Given the description of an element on the screen output the (x, y) to click on. 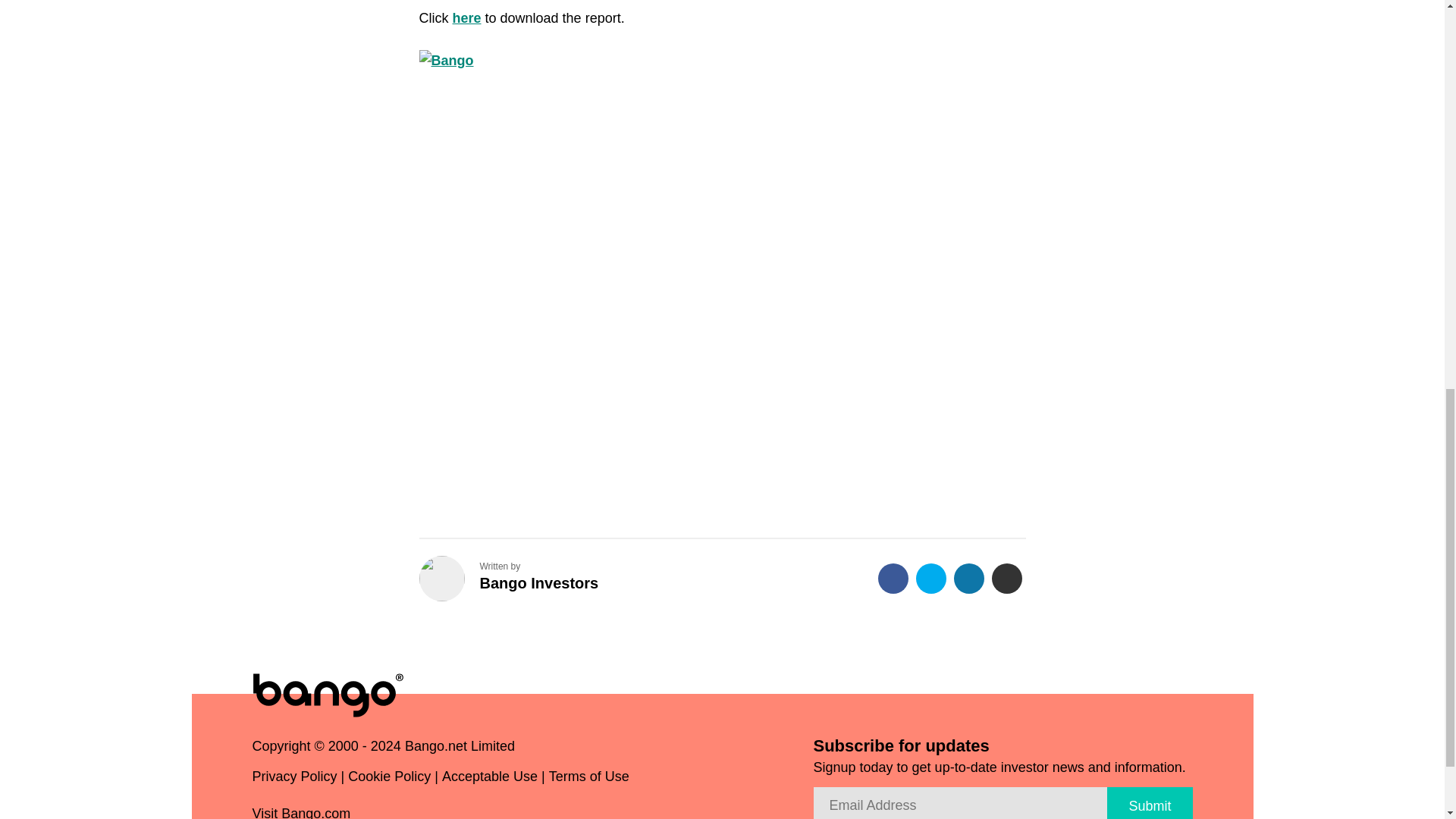
Terms of Use (588, 779)
here (465, 17)
Privacy Policy (293, 779)
Cookie Policy (388, 779)
Acceptable Use (489, 779)
Visit Bango.com (306, 811)
